Given the description of an element on the screen output the (x, y) to click on. 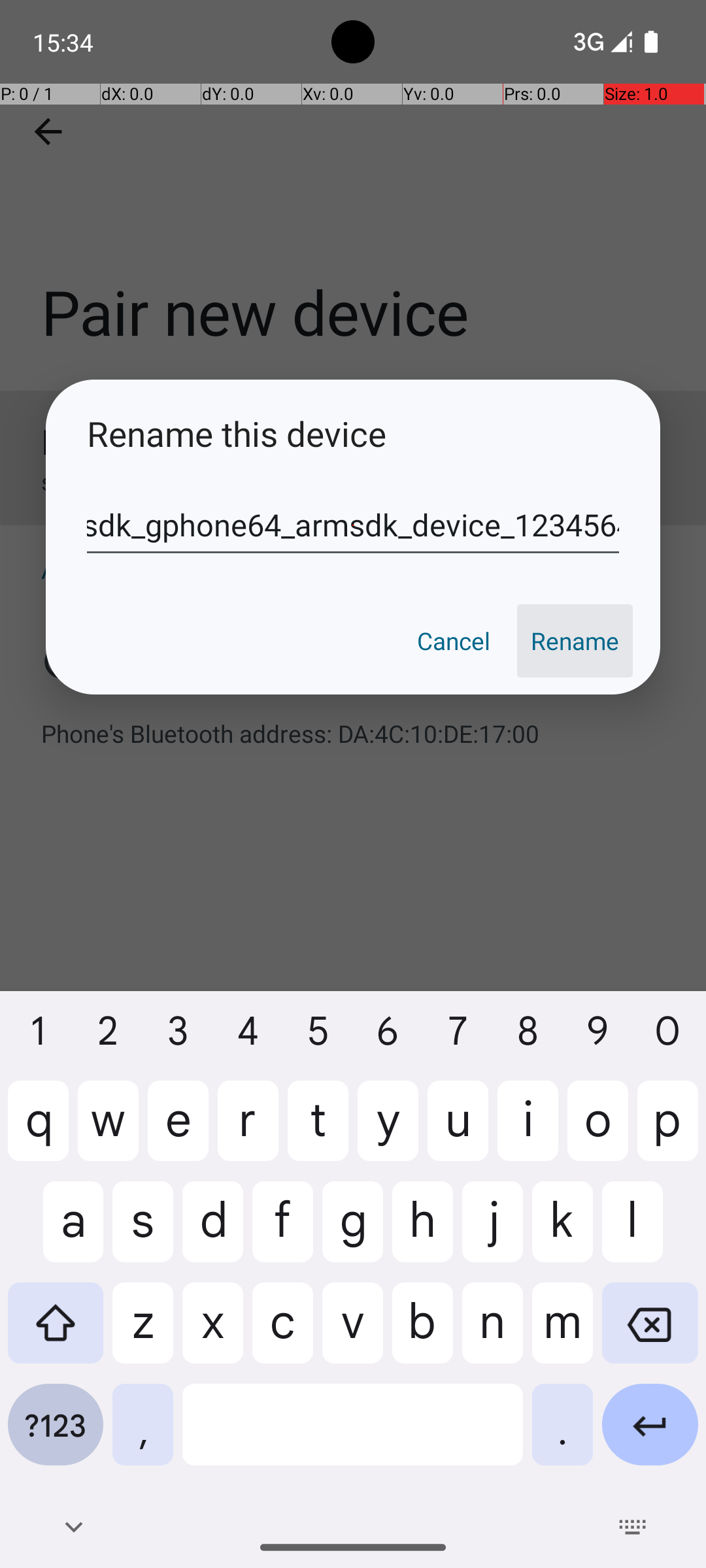
Rename this device Element type: android.widget.TextView (352, 433)
sdk_gphone64_armsdk_device_1234564 Element type: android.widget.EditText (352, 525)
Rename Element type: android.widget.Button (574, 640)
